Given the description of an element on the screen output the (x, y) to click on. 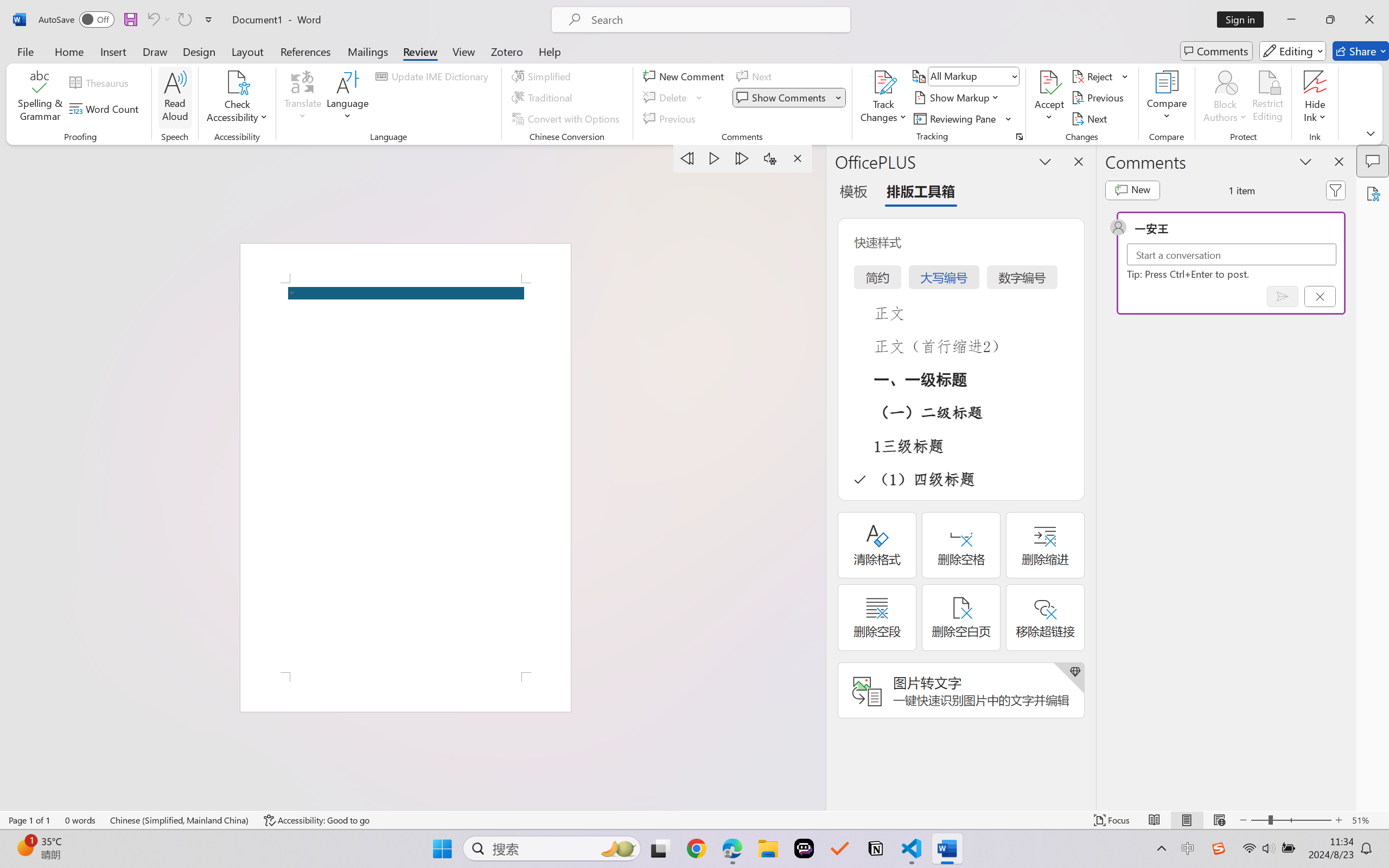
Delete (666, 97)
Update IME Dictionary... (433, 75)
Check Accessibility (237, 97)
Check Accessibility (237, 81)
New Comment (685, 75)
Read Aloud (174, 97)
